Given the description of an element on the screen output the (x, y) to click on. 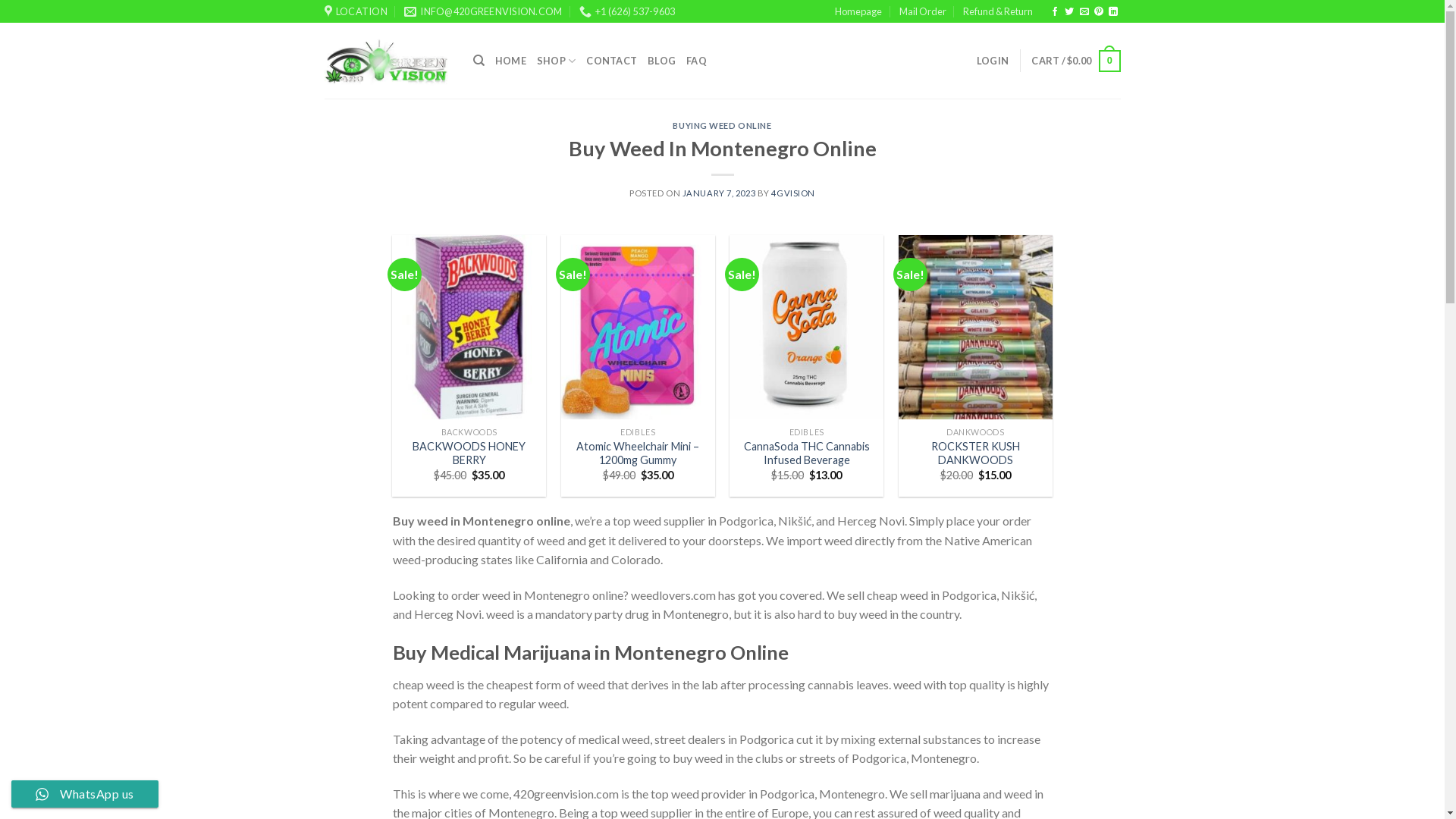
Homepage Element type: text (857, 11)
FAQ Element type: text (696, 60)
Refund & Return Element type: text (997, 11)
HOME Element type: text (510, 60)
Pin on Pinterest Element type: hover (1098, 11)
Share on Facebook Element type: hover (1054, 11)
ROCKSTER KUSH DANKWOODS Element type: text (975, 453)
CONTACT Element type: text (611, 60)
+1 (626) 537-9603 Element type: text (627, 11)
BACKWOODS HONEY BERRY Element type: text (468, 453)
JANUARY 7, 2023 Element type: text (718, 192)
Share on Twitter Element type: hover (1068, 11)
INFO@420GREENVISION.COM Element type: text (482, 11)
BUYING WEED ONLINE Element type: text (721, 125)
SHOP Element type: text (555, 60)
Share on LinkedIn Element type: hover (1112, 11)
Email to a Friend Element type: hover (1083, 11)
LOGIN Element type: text (992, 60)
CART / $0.00
0 Element type: text (1075, 61)
Mail Order Element type: text (922, 11)
420 Green Vision - Buy marijuana online with home delivery Element type: hover (387, 60)
BLOG Element type: text (661, 60)
CannaSoda THC Cannabis Infused Beverage Element type: text (806, 453)
4GVISION Element type: text (792, 192)
LOCATION Element type: text (355, 11)
